Given the description of an element on the screen output the (x, y) to click on. 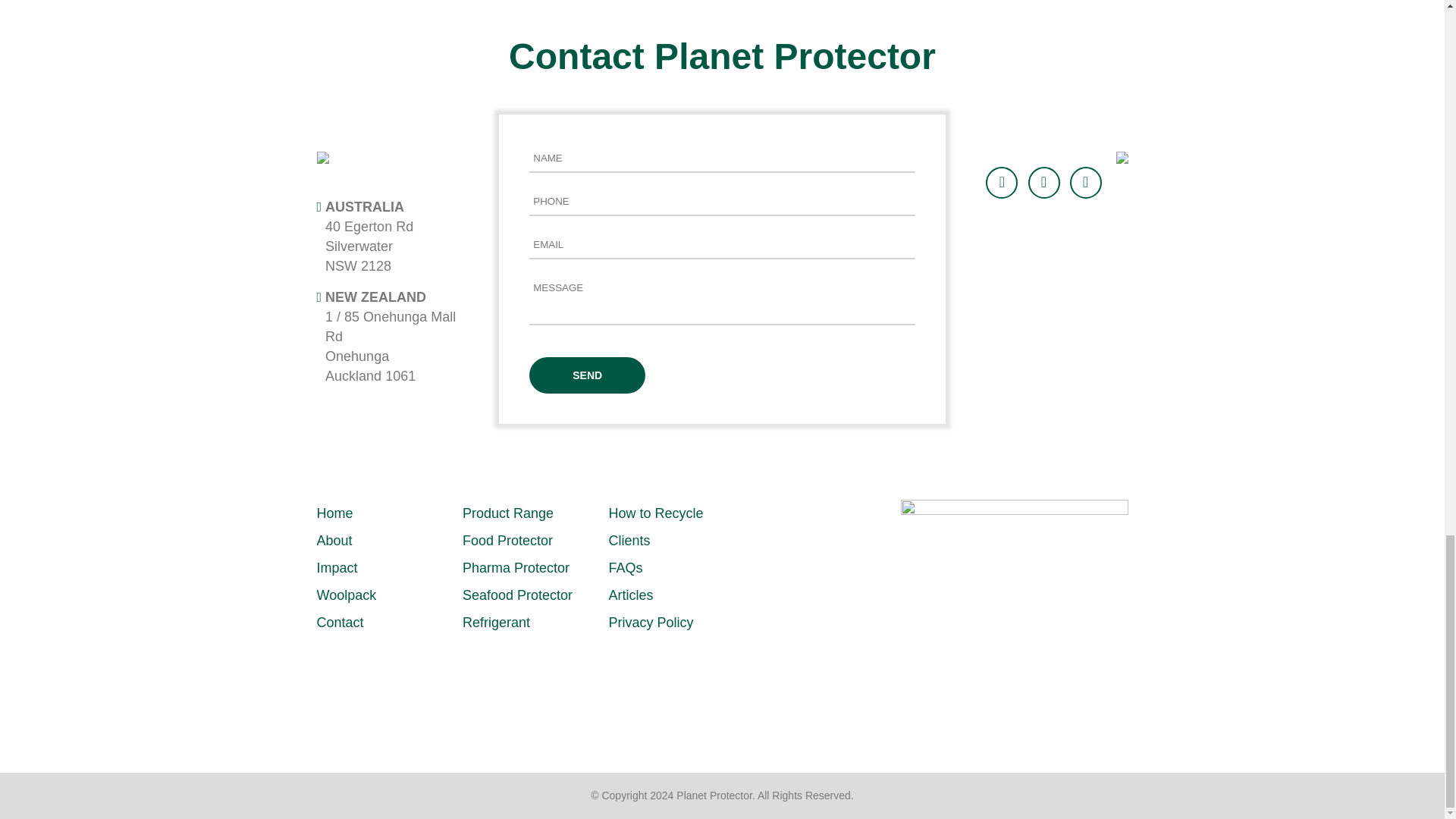
Pharma Protector (516, 567)
Home (335, 513)
Product Range (508, 513)
Impact (337, 567)
Send (587, 375)
How to Recycle (655, 513)
Refrigerant (496, 622)
Seafood Protector (517, 595)
Woolpack (347, 595)
Food Protector (508, 540)
